Given the description of an element on the screen output the (x, y) to click on. 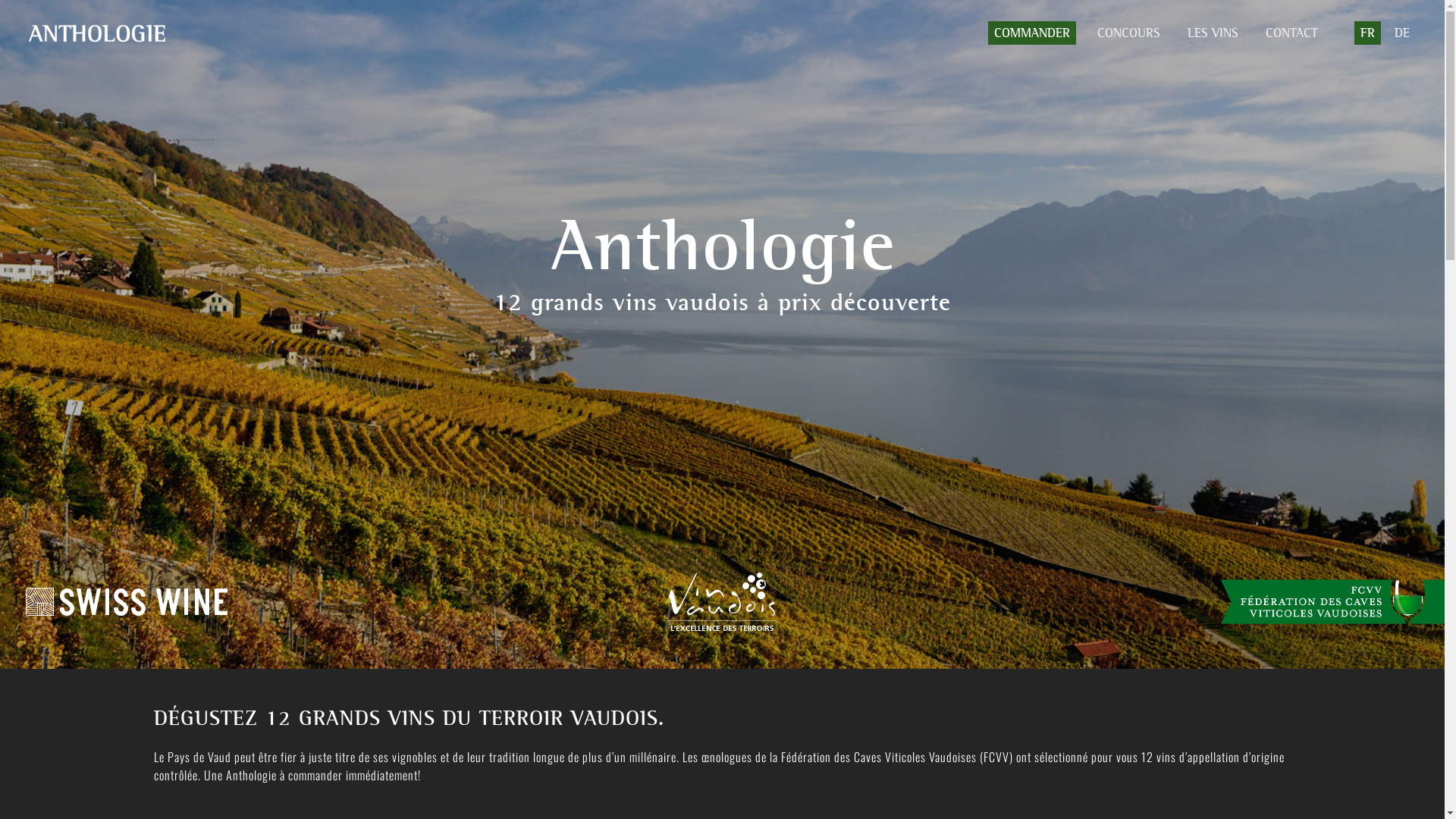
logo-fcvv Element type: hover (1332, 601)
logo-vv Element type: hover (721, 601)
LES VINS Element type: text (1212, 33)
CONTACT Element type: text (1291, 33)
COMMANDER Element type: text (1031, 33)
FR Element type: text (1357, 33)
CONCOURS Element type: text (1128, 33)
DE Element type: text (1399, 33)
logo-sw Element type: hover (126, 601)
